Given the description of an element on the screen output the (x, y) to click on. 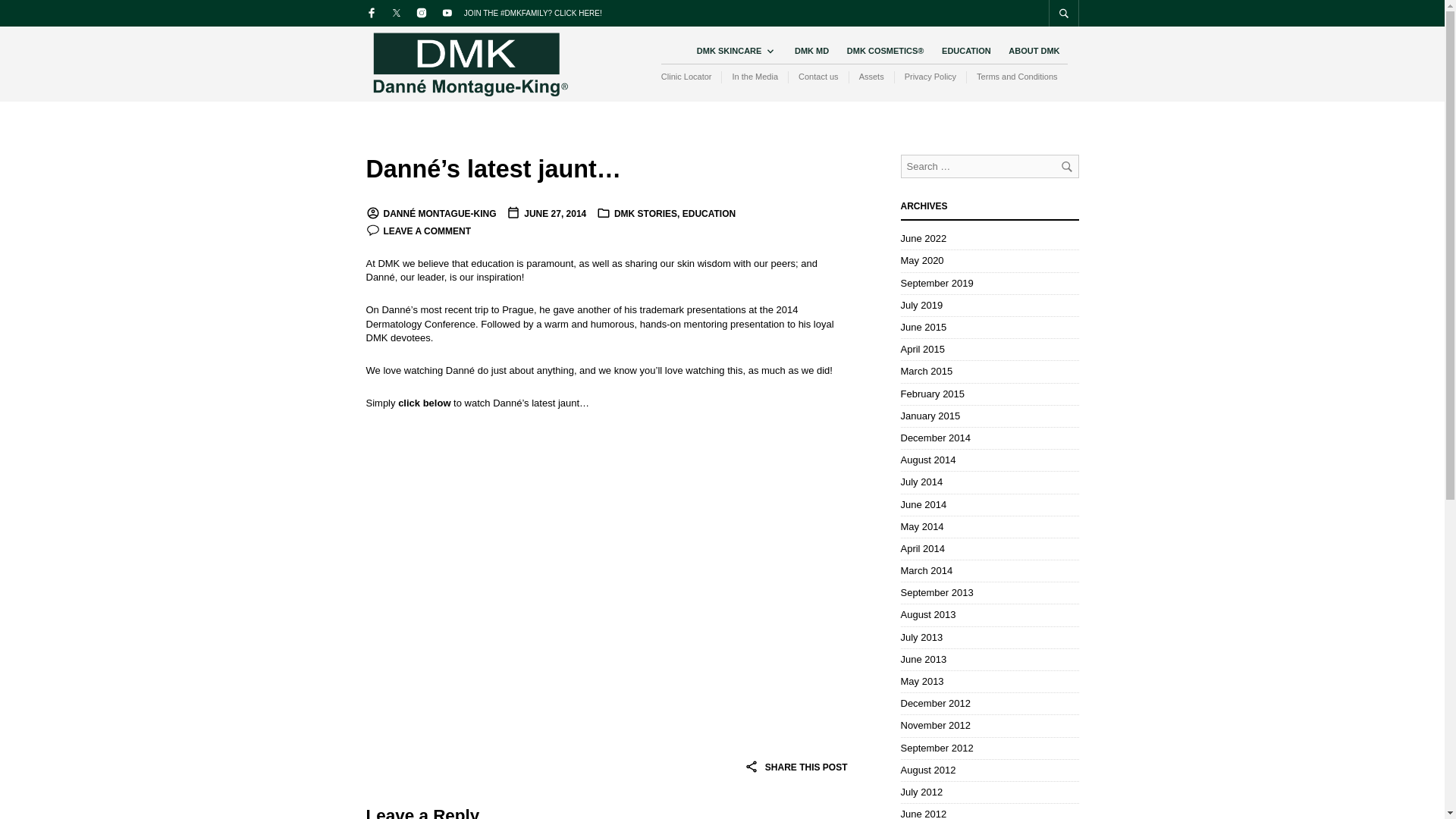
Privacy Policy (929, 76)
JUNE 27, 2014 (546, 213)
DMK SKINCARE (732, 50)
Clinic Locator (691, 76)
EDUCATION (966, 50)
DMK MD (811, 50)
DMK STORIES (645, 213)
Assets (870, 76)
Search (1065, 166)
8:00 pm (546, 213)
SHARE THIS POST (795, 767)
In the Media (753, 76)
Contact us (817, 76)
EDUCATION (708, 213)
LEAVE A COMMENT (417, 231)
